Given the description of an element on the screen output the (x, y) to click on. 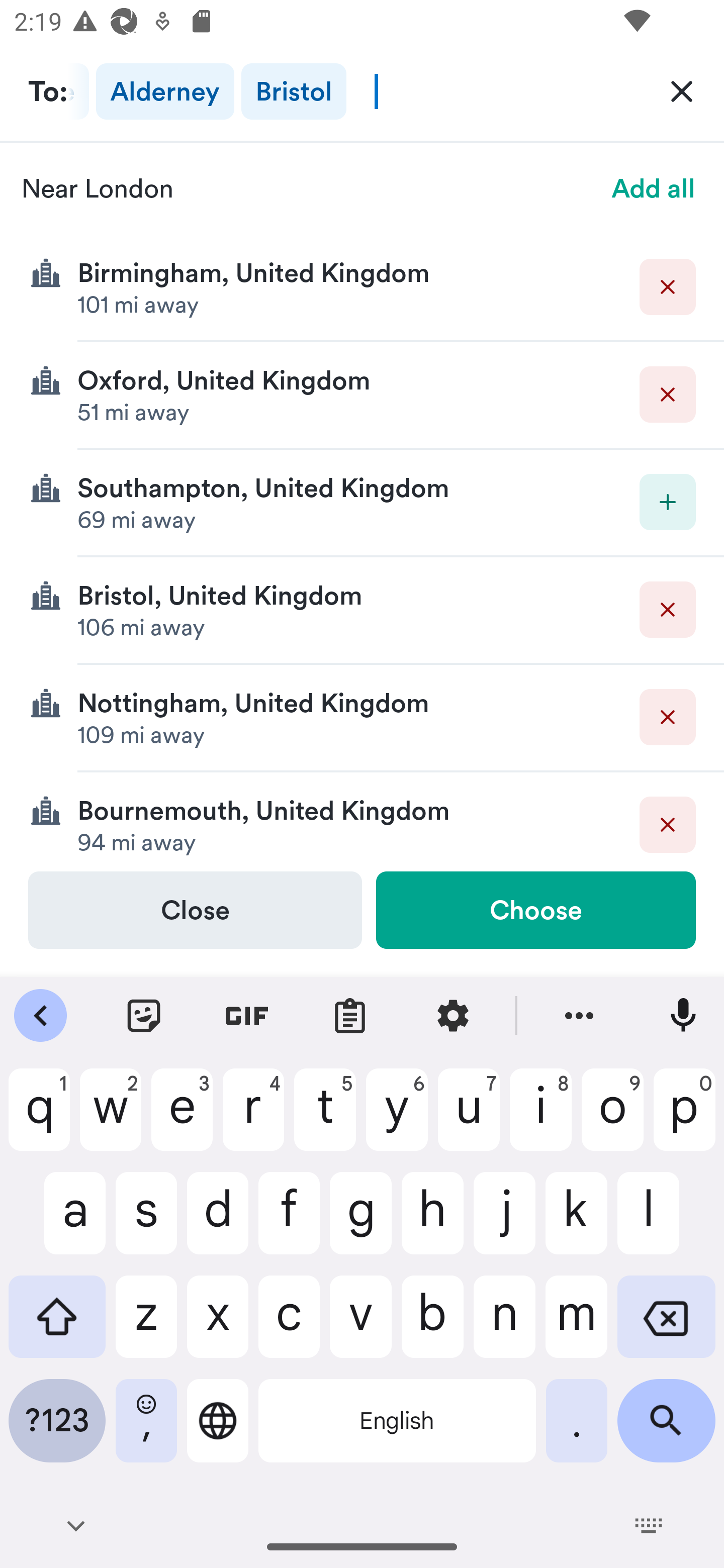
Clear All (681, 90)
Alderney (165, 91)
Bristol (293, 91)
Add all (653, 187)
Delete Birmingham, United Kingdom 101 mi away (362, 287)
Delete (667, 286)
Delete Oxford, United Kingdom 51 mi away (362, 395)
Delete (667, 394)
Add destination (667, 501)
Delete Bristol, United Kingdom 106 mi away (362, 610)
Delete (667, 609)
Delete Nottingham, United Kingdom 109 mi away (362, 717)
Delete (667, 716)
Delete Bournemouth, United Kingdom 94 mi away (362, 821)
Delete (667, 824)
Close (195, 909)
Choose (535, 909)
